Given the description of an element on the screen output the (x, y) to click on. 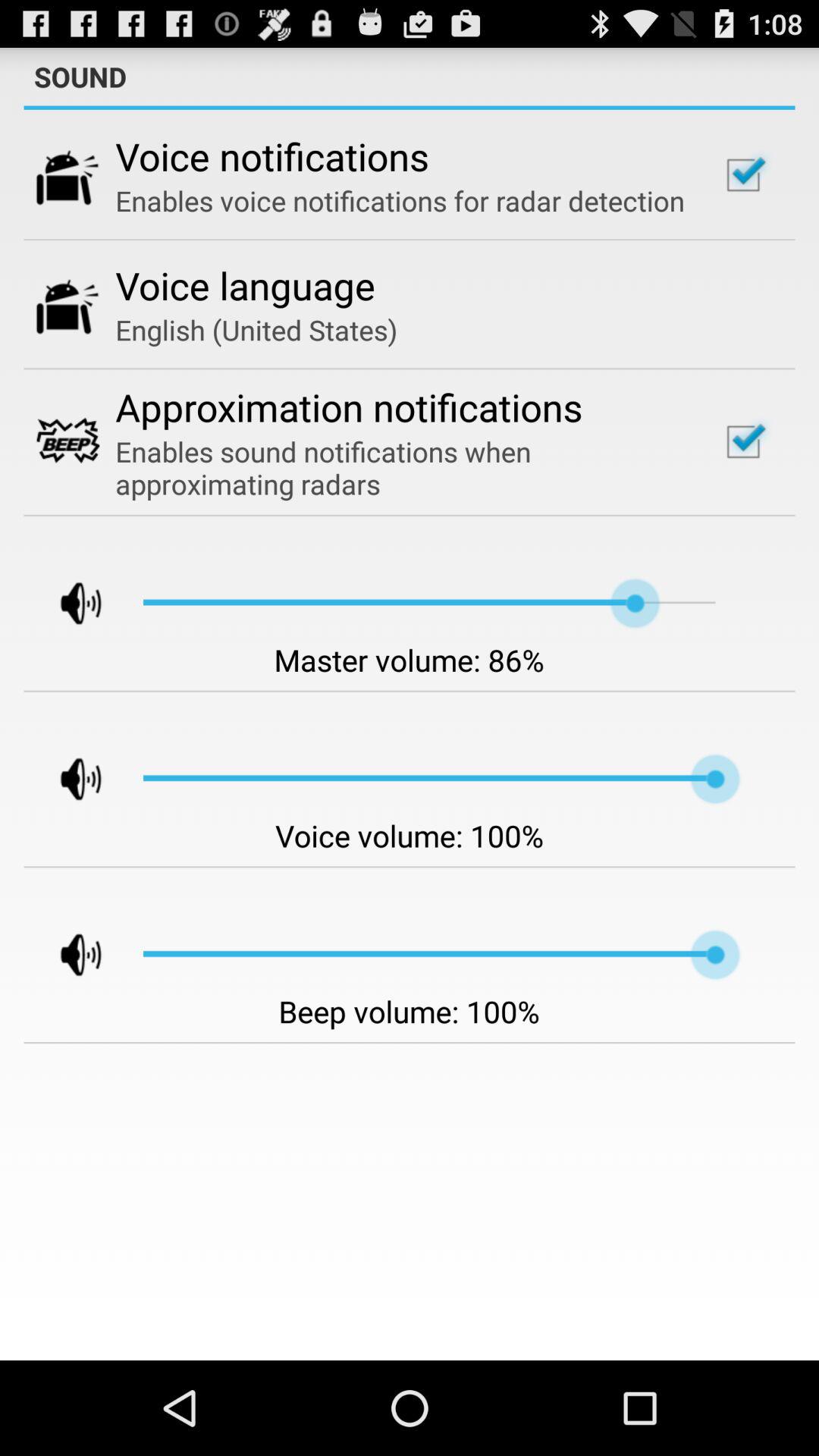
open the item below enables voice notifications app (245, 285)
